Given the description of an element on the screen output the (x, y) to click on. 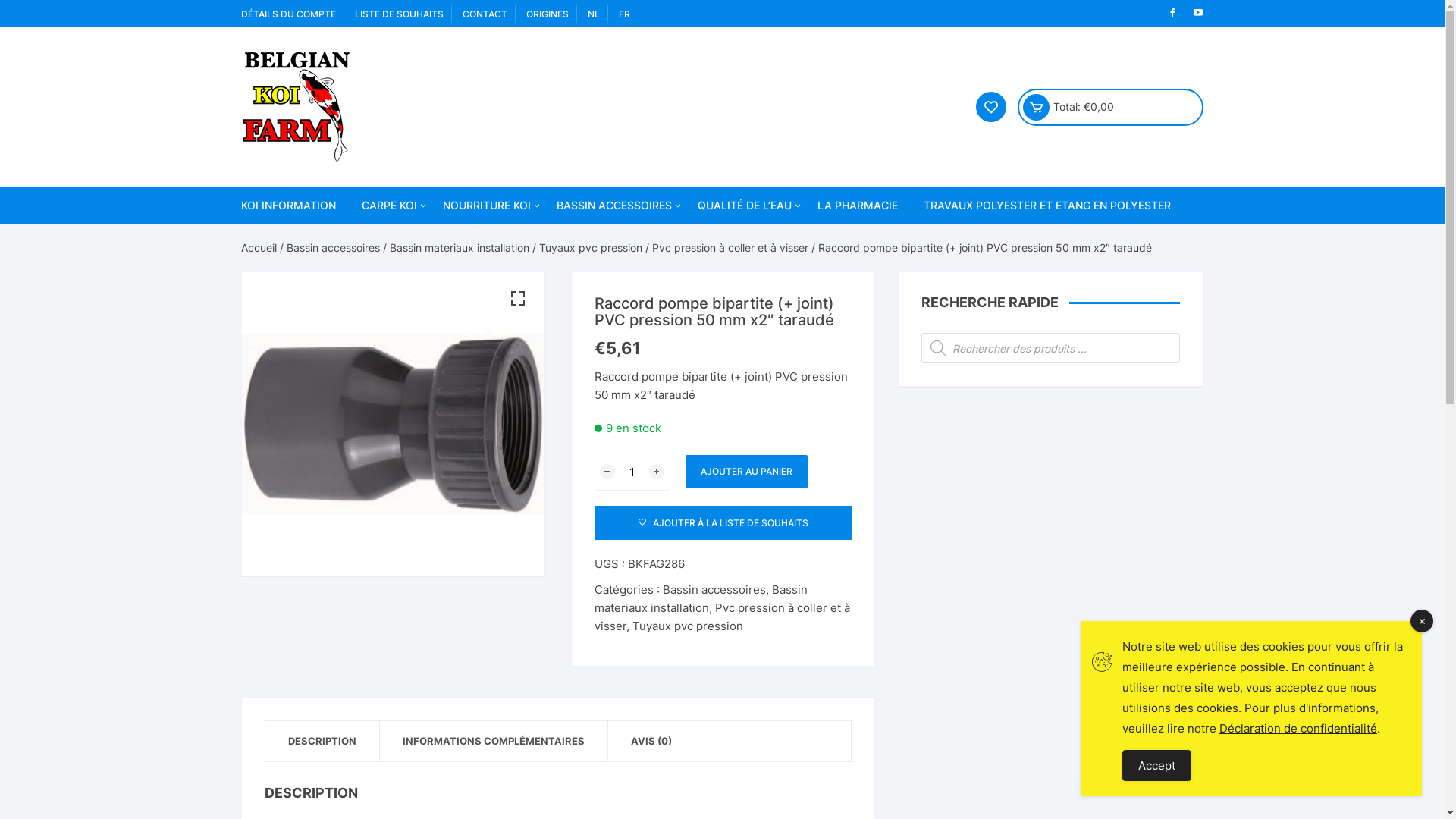
CONTACT Element type: text (484, 12)
Drain de fond Element type: text (828, 403)
Accueil Element type: text (258, 247)
Bacto+ Element type: text (780, 460)
Accept Element type: text (1156, 765)
Filtre biologique Connect Clear Element type: text (828, 791)
Filtre bassin multichambre Element type: text (828, 747)
Collier de serrage et couplage Element type: text (828, 557)
AJOUTER AU PANIER Element type: text (746, 471)
Bassin accessoires Element type: text (332, 247)
Bassin materiaux installation Element type: text (459, 247)
LA PHARMACIE Element type: text (856, 205)
Ecopic poteaux plastiques Element type: text (828, 315)
Drainage et accessoires Element type: text (828, 476)
TRAVAUX POLYESTER ET ETANG EN POLYESTER Element type: text (1046, 205)
Nourriture Top Nishikigoi Element type: text (525, 242)
Bassin accessoires Element type: text (713, 589)
CARPE KOI Element type: text (389, 205)
Aqua forte filtre pression Element type: text (828, 711)
Bache EPDM pour bassin Element type: text (639, 242)
Filtre bassin Oase Biosmart Element type: text (828, 638)
Nourriture Esturgeon Element type: text (525, 278)
Bio Algex/Algix Element type: text (780, 388)
Bacto Clair Element type: text (780, 497)
Substrat pour filtration Element type: text (828, 727)
Flotteurs et accessoires Element type: text (639, 726)
Koi standard Element type: text (444, 242)
Filtre bassin Oase Biopress Element type: text (828, 674)
Clapet anti-retour Element type: text (828, 440)
Pompe bassin Element type: text (639, 529)
Bactogen Element type: text (780, 351)
Filtre bassin Element type: text (639, 492)
Filtre bassin Oase Filtoclear Element type: text (828, 492)
Tuyaux pvc pression Element type: text (828, 690)
Feutres et tapis Element type: text (828, 763)
Tuyau flexible et raccords Element type: text (828, 513)
Ecolat Azobe bordures Element type: text (828, 278)
KOI INFORMATION Element type: text (294, 205)
Bassin materiaux installation Element type: text (639, 315)
LISTE DE SOUHAITS Element type: text (398, 12)
DESCRIPTION Element type: text (322, 741)
BASSIN ACCESSOIRES Element type: text (613, 205)
Japanse Koi high quality Element type: text (444, 315)
NOURRITURE KOI Element type: text (485, 205)
NL Element type: text (592, 12)
Lampes UV-C T5 Element type: text (1018, 709)
Koi handpick Element type: text (444, 424)
Lampes UVC TL Element type: text (1018, 673)
Koi Butterfly Element type: text (444, 388)
Epuisettes et filets de protection Element type: text (639, 573)
Azobe lattes et poteaux Element type: text (828, 351)
Koi select Element type: text (444, 278)
Bassin materiaux installation Element type: text (700, 598)
Bacto Vase Element type: text (780, 533)
Koi Variety Element type: text (444, 351)
Ecotreat Element type: text (780, 278)
AVIS (0) Element type: text (651, 741)
Aqua Forte Ozon Redox Element type: text (828, 601)
Bache couvert de gravier Element type: text (828, 387)
Tuyaux pvc pression Element type: text (589, 247)
Tuyaux pvc pression Element type: text (687, 625)
Biobooster Oxyboost Element type: text (780, 315)
ORIGINES Element type: text (547, 12)
Lampes UVC PL Element type: text (1018, 637)
FR Element type: text (624, 12)
